Given the description of an element on the screen output the (x, y) to click on. 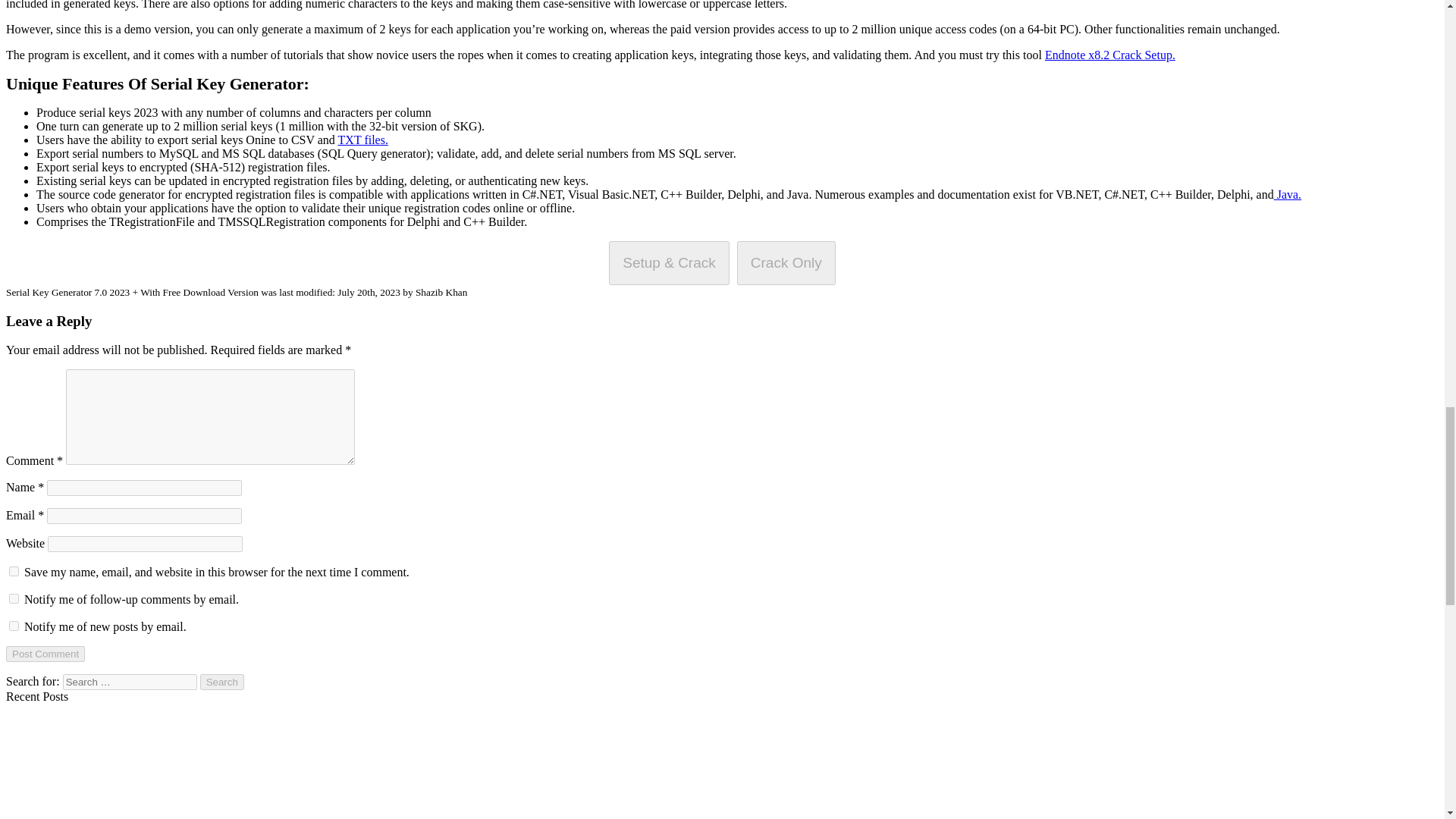
TXT files. (362, 139)
yes (13, 571)
Search (222, 682)
Post Comment (44, 653)
Java. (1287, 194)
Search (222, 682)
subscribe (13, 625)
Crack Only (785, 262)
Post Comment (44, 653)
subscribe (13, 598)
Search (222, 682)
Endnote x8.2 Crack Setup. (1109, 54)
